Given the description of an element on the screen output the (x, y) to click on. 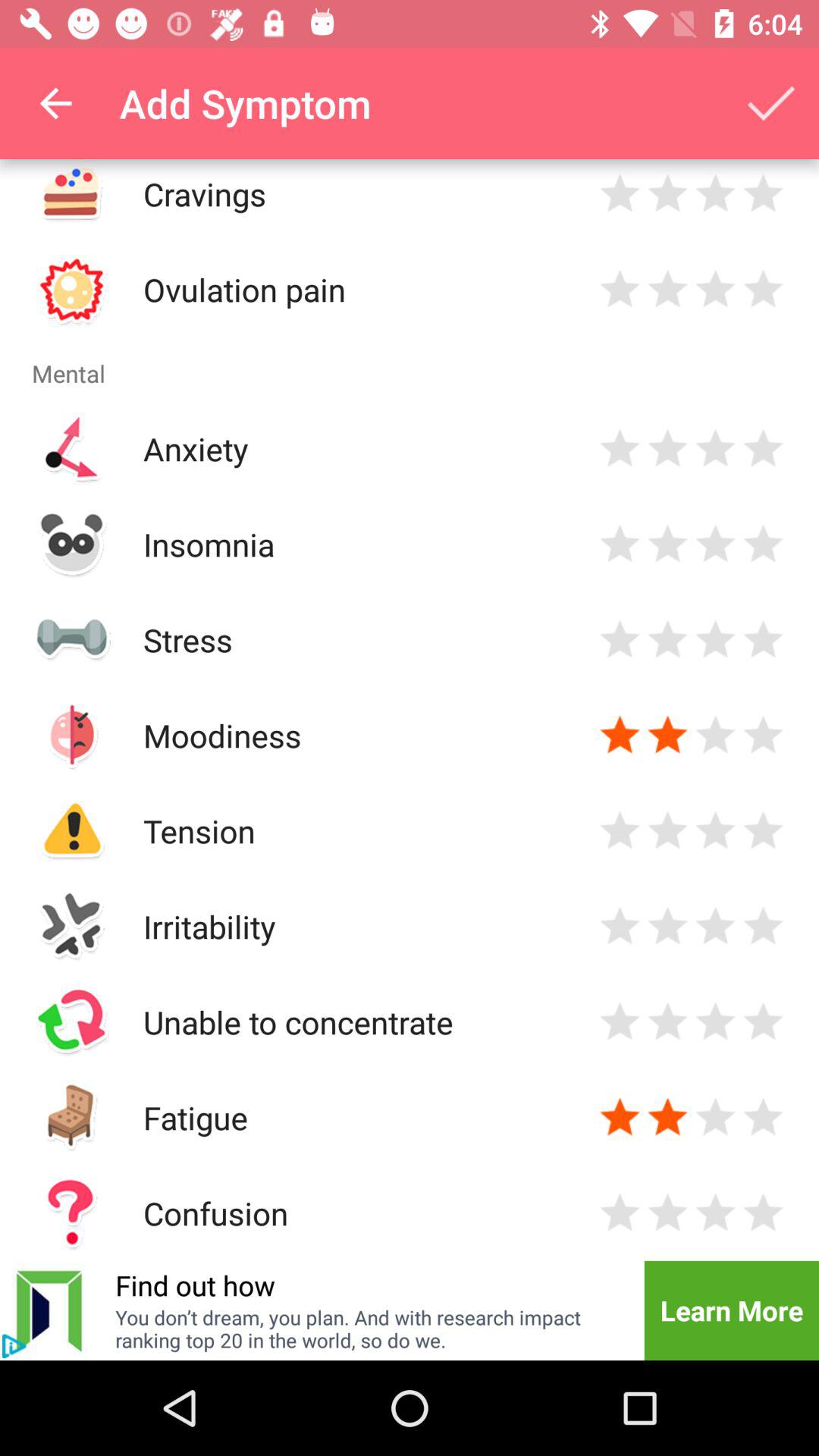
add one more positive feedback (715, 735)
